Given the description of an element on the screen output the (x, y) to click on. 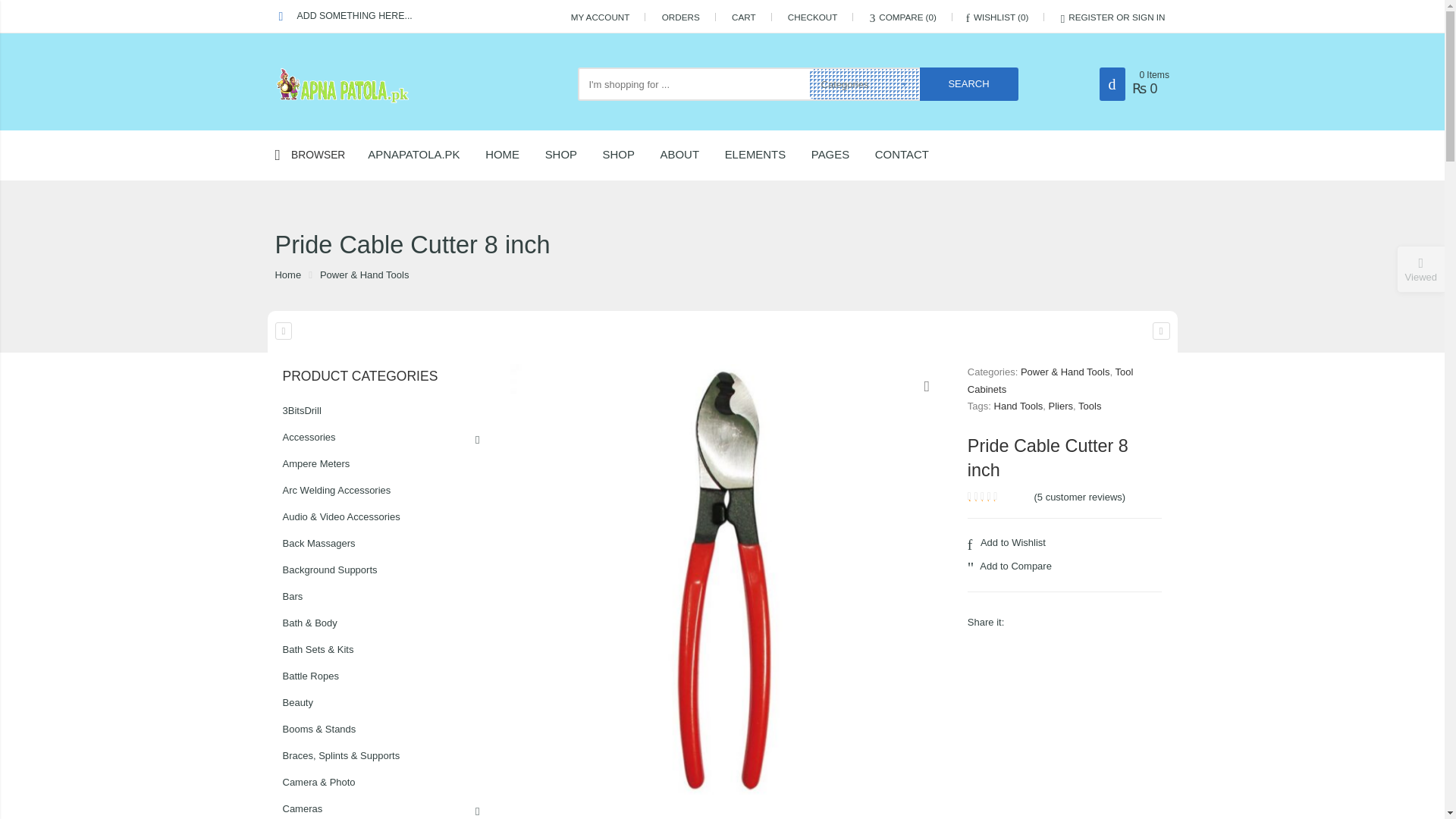
CHECKOUT (812, 17)
ORDERS (681, 17)
COMPARE 0 (902, 17)
HOME (512, 154)
search (968, 83)
Orders (681, 17)
Wishlist (997, 17)
ABOUT (691, 154)
Cart (743, 17)
WISHLIST0 (997, 17)
APNAPATOLA.PK (424, 154)
ELEMENTS (767, 154)
Compare (902, 17)
My account (600, 17)
CART (743, 17)
